Given the description of an element on the screen output the (x, y) to click on. 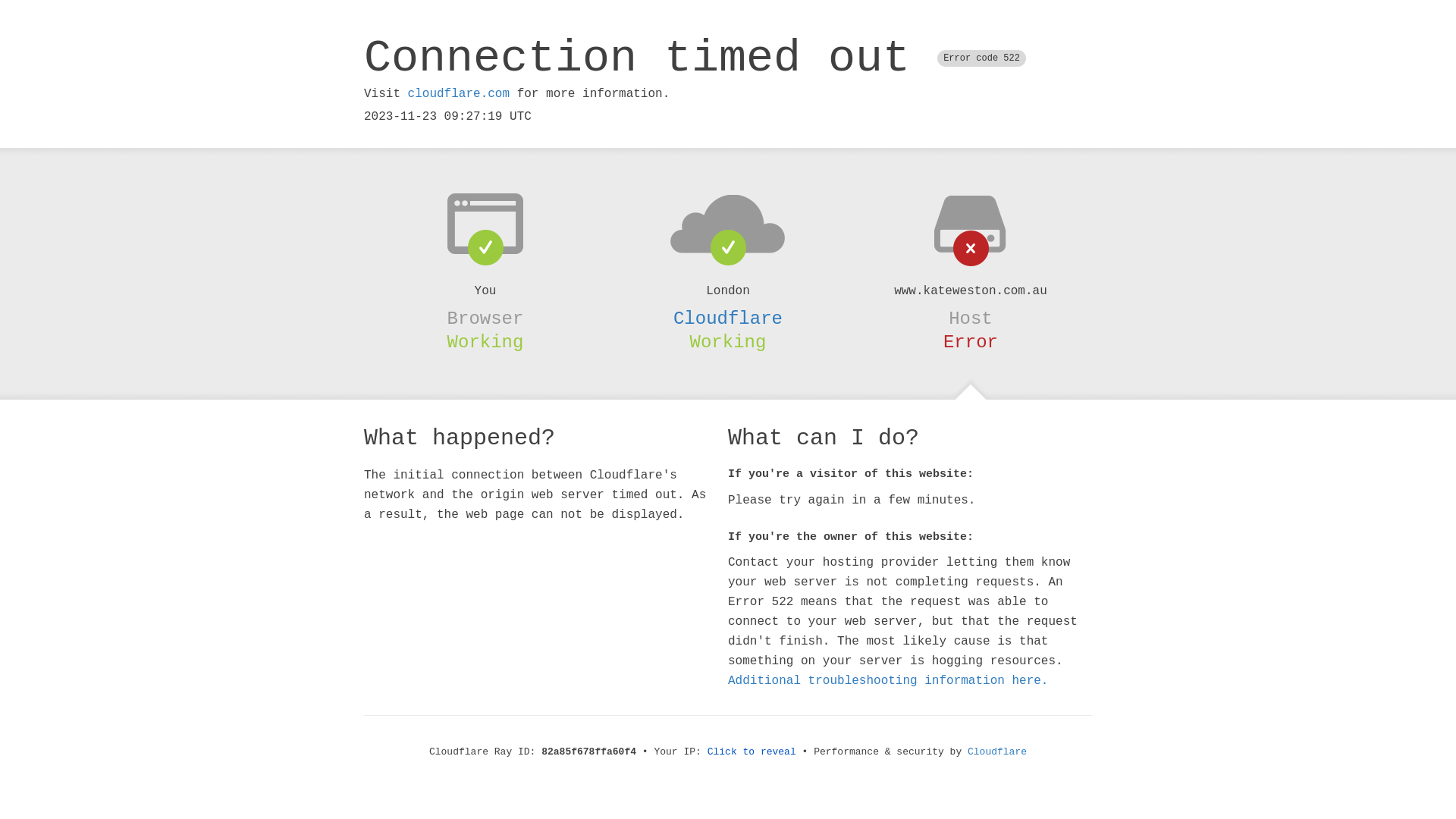
Additional troubleshooting information here. Element type: text (888, 680)
cloudflare.com Element type: text (458, 93)
Cloudflare Element type: text (996, 751)
Click to reveal Element type: text (751, 751)
Cloudflare Element type: text (727, 318)
